Given the description of an element on the screen output the (x, y) to click on. 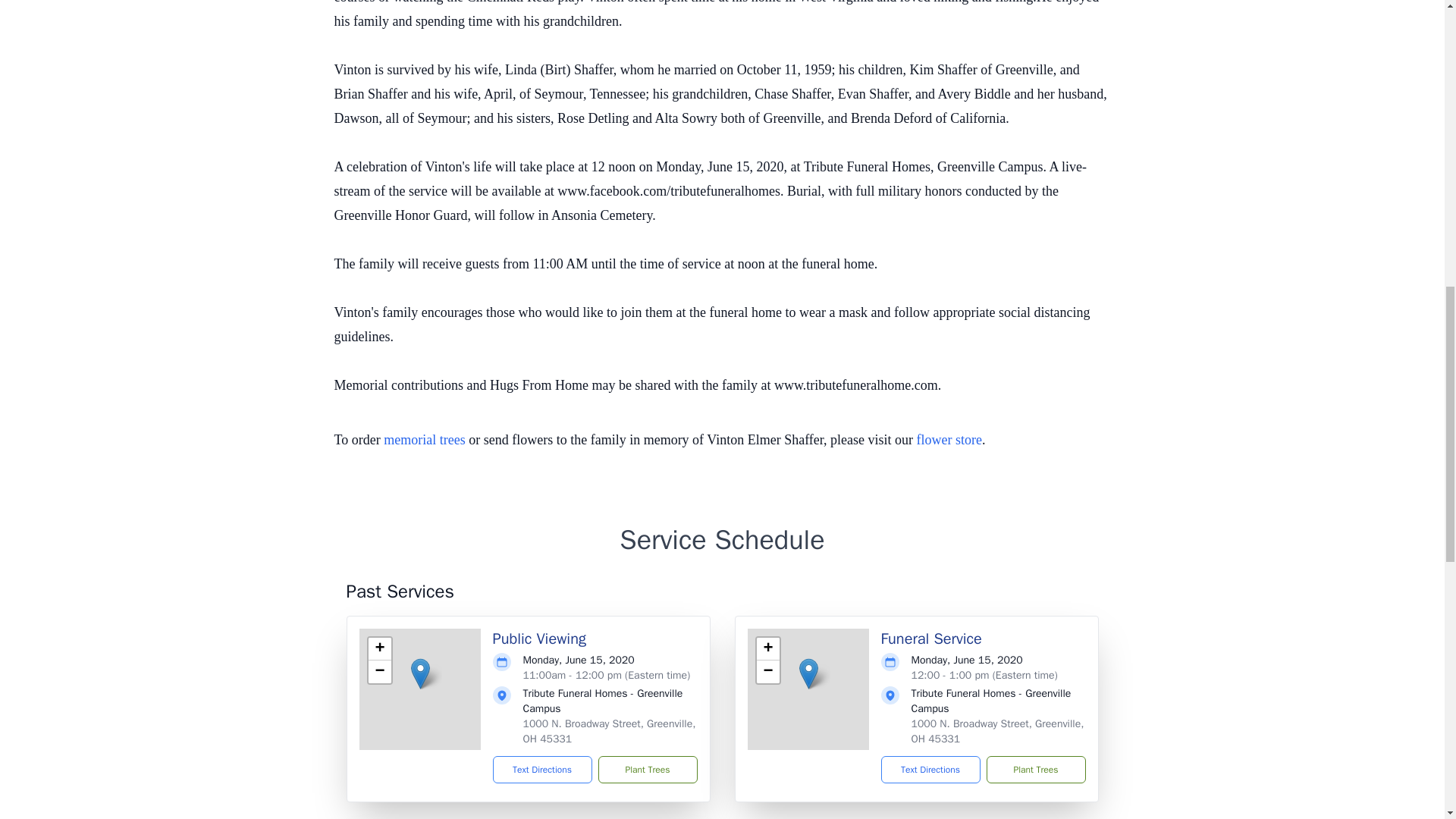
Plant Trees (1034, 768)
Zoom out (379, 671)
1000 N. Broadway Street, Greenville, OH 45331 (608, 731)
flower store (949, 439)
Text Directions (542, 768)
Zoom in (767, 649)
1000 N. Broadway Street, Greenville, OH 45331 (997, 731)
Plant Trees (646, 768)
Zoom in (379, 649)
Zoom out (767, 671)
